Given the description of an element on the screen output the (x, y) to click on. 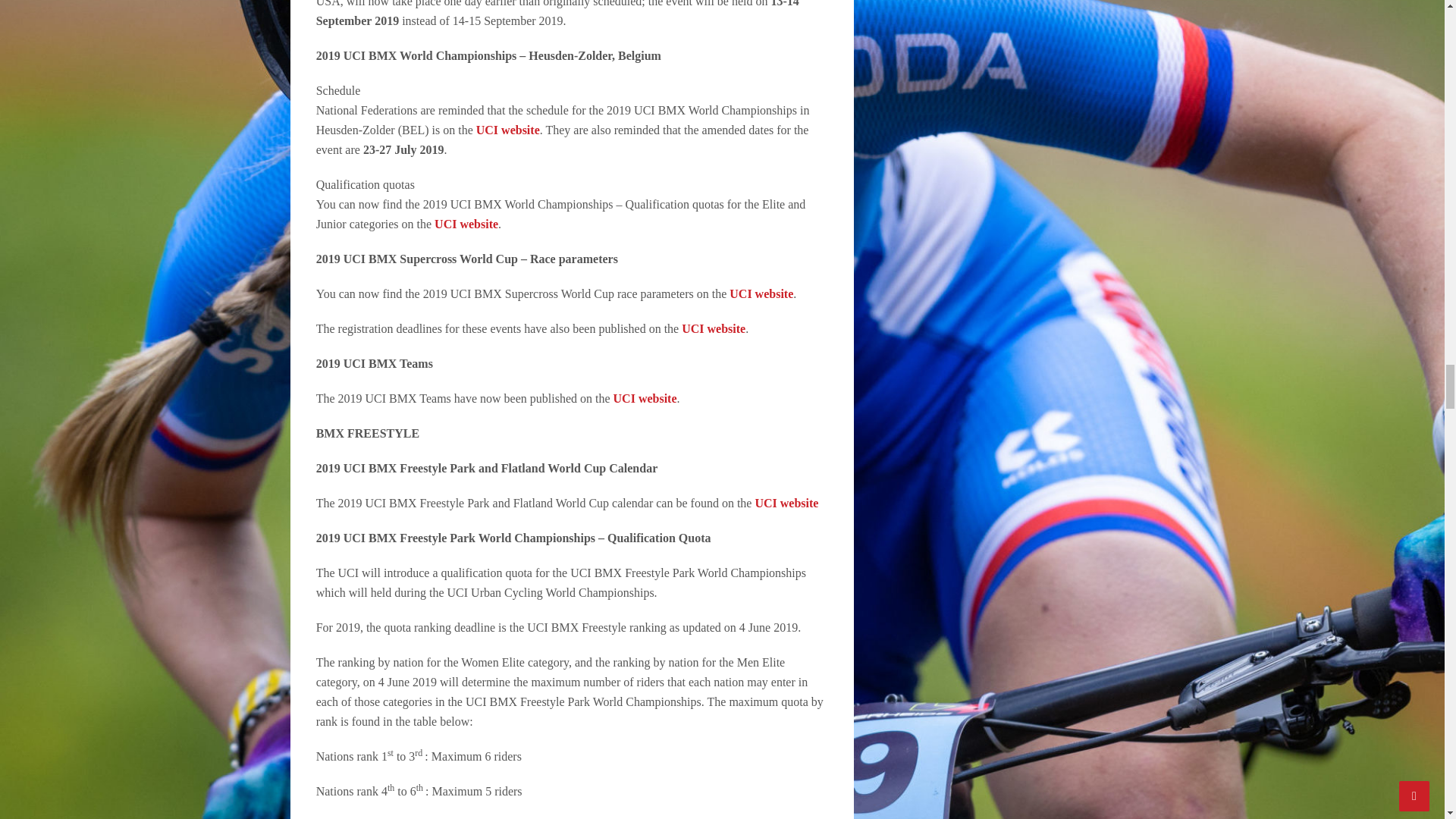
UCI website (644, 398)
UCI website (786, 502)
UCI website (465, 223)
UCI website (713, 328)
UCI website (508, 129)
UCI website (761, 293)
